Given the description of an element on the screen output the (x, y) to click on. 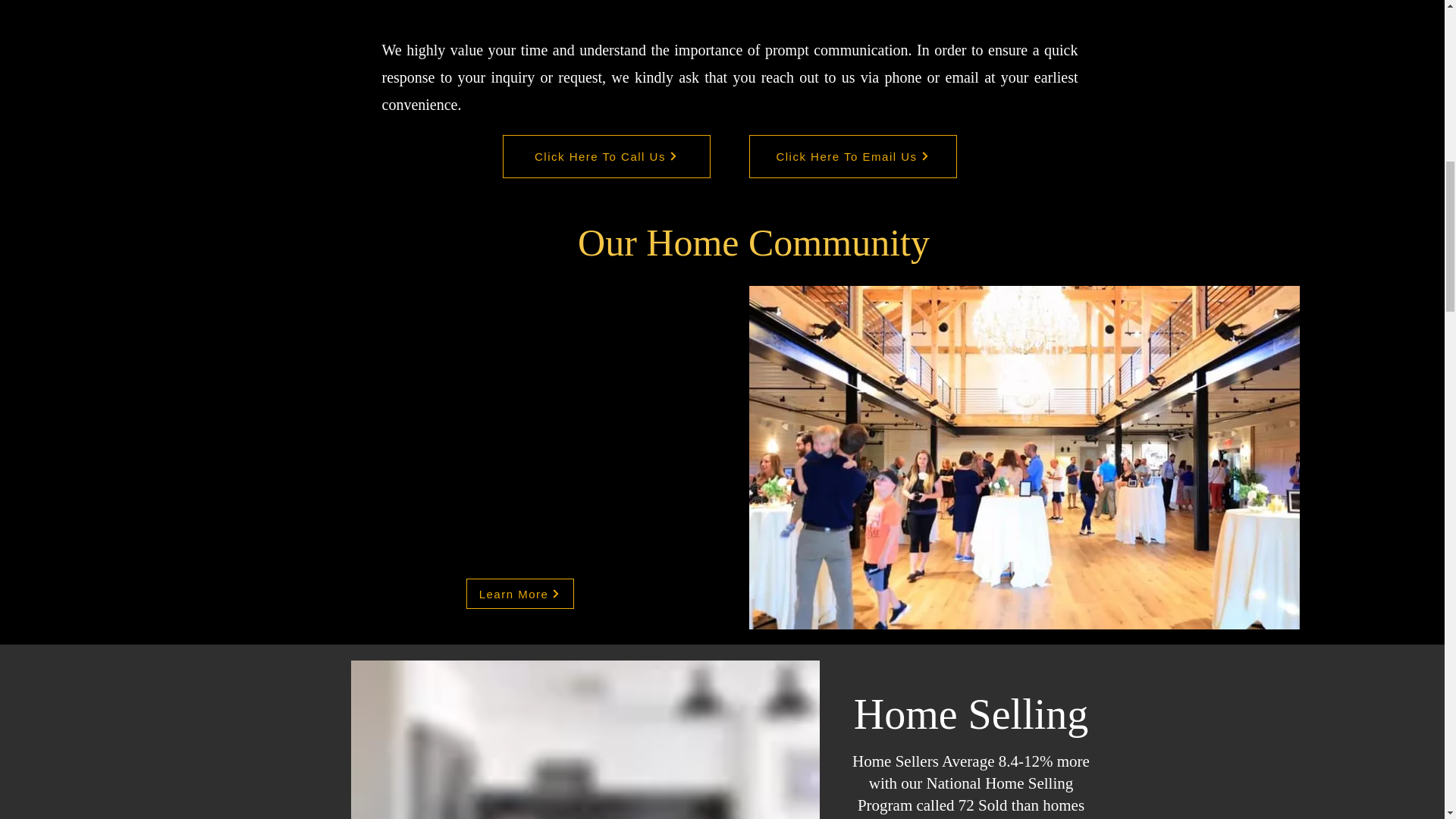
Learn More (519, 593)
Click Here To Call Us (606, 156)
Click Here To Email Us (852, 156)
